Given the description of an element on the screen output the (x, y) to click on. 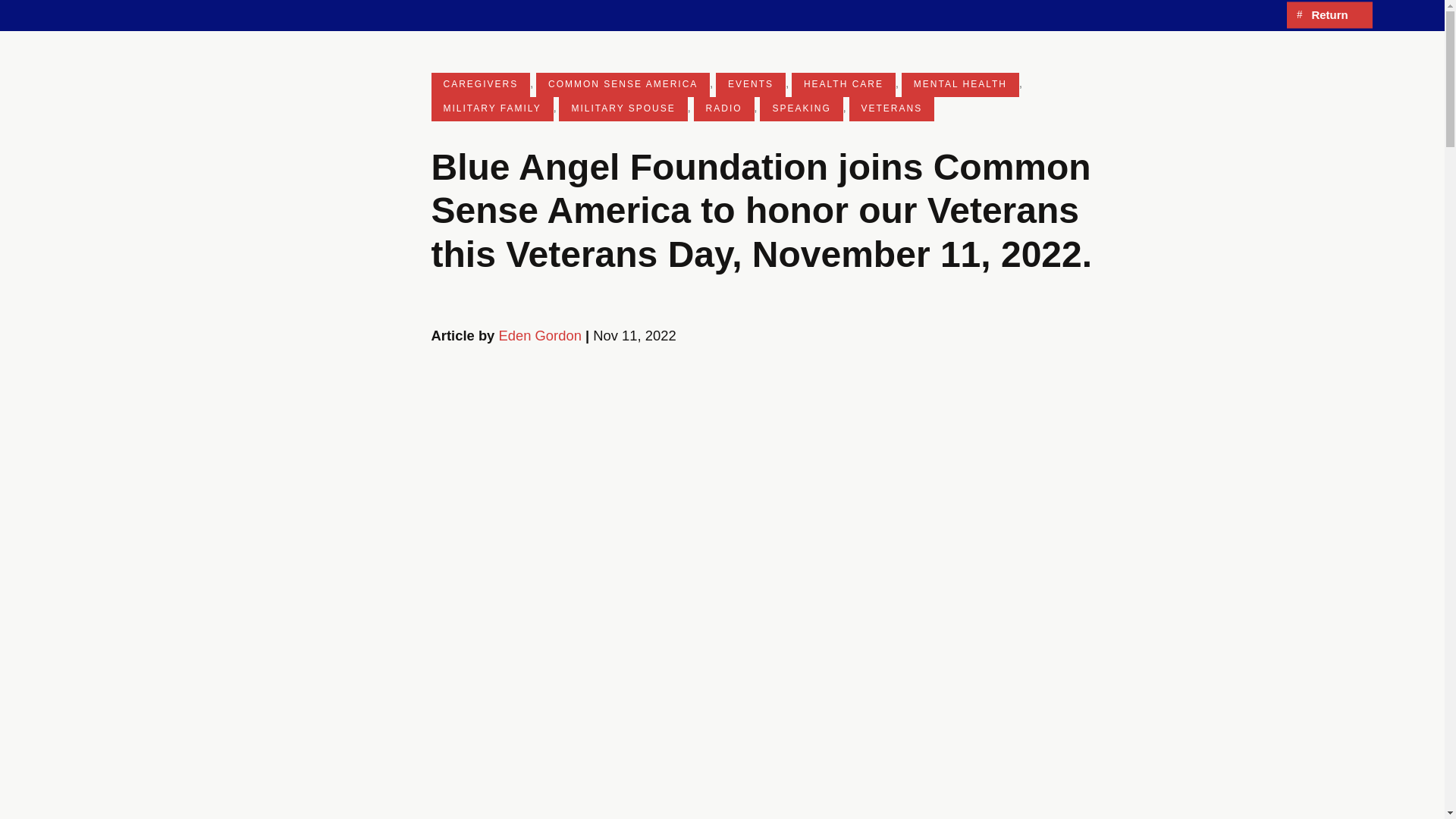
COMMON SENSE AMERICA (622, 84)
EVENTS (751, 84)
MILITARY FAMILY (491, 109)
Return (1329, 15)
Eden Gordon (538, 335)
CAREGIVERS (479, 84)
Posts by Eden Gordon (538, 335)
HEALTH CARE (843, 84)
VETERANS (891, 109)
RADIO (724, 109)
